Given the description of an element on the screen output the (x, y) to click on. 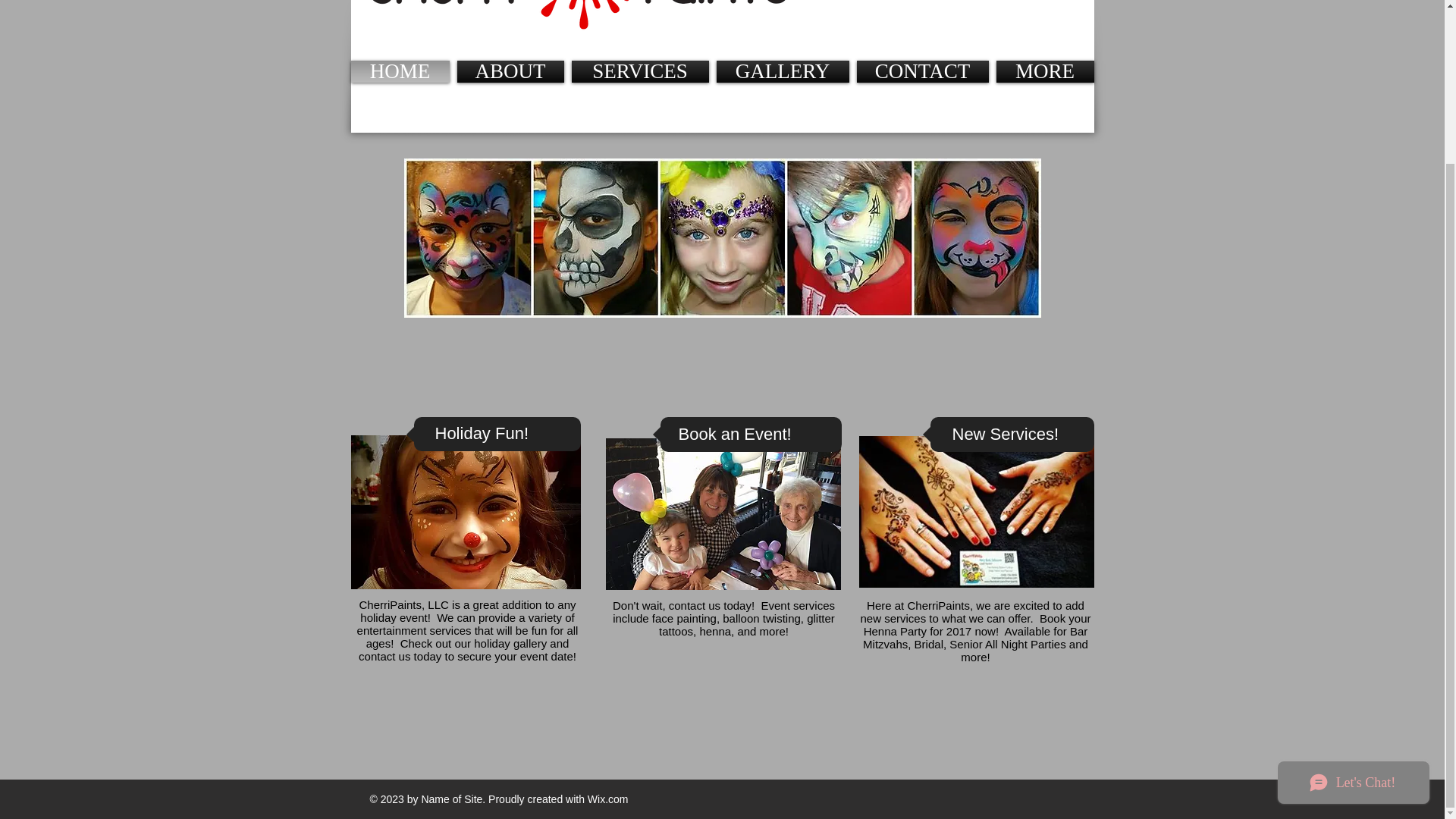
SERVICES (639, 71)
Wix.com (608, 604)
CONTACT (921, 71)
HOME (401, 71)
ABOUT (509, 71)
